Given the description of an element on the screen output the (x, y) to click on. 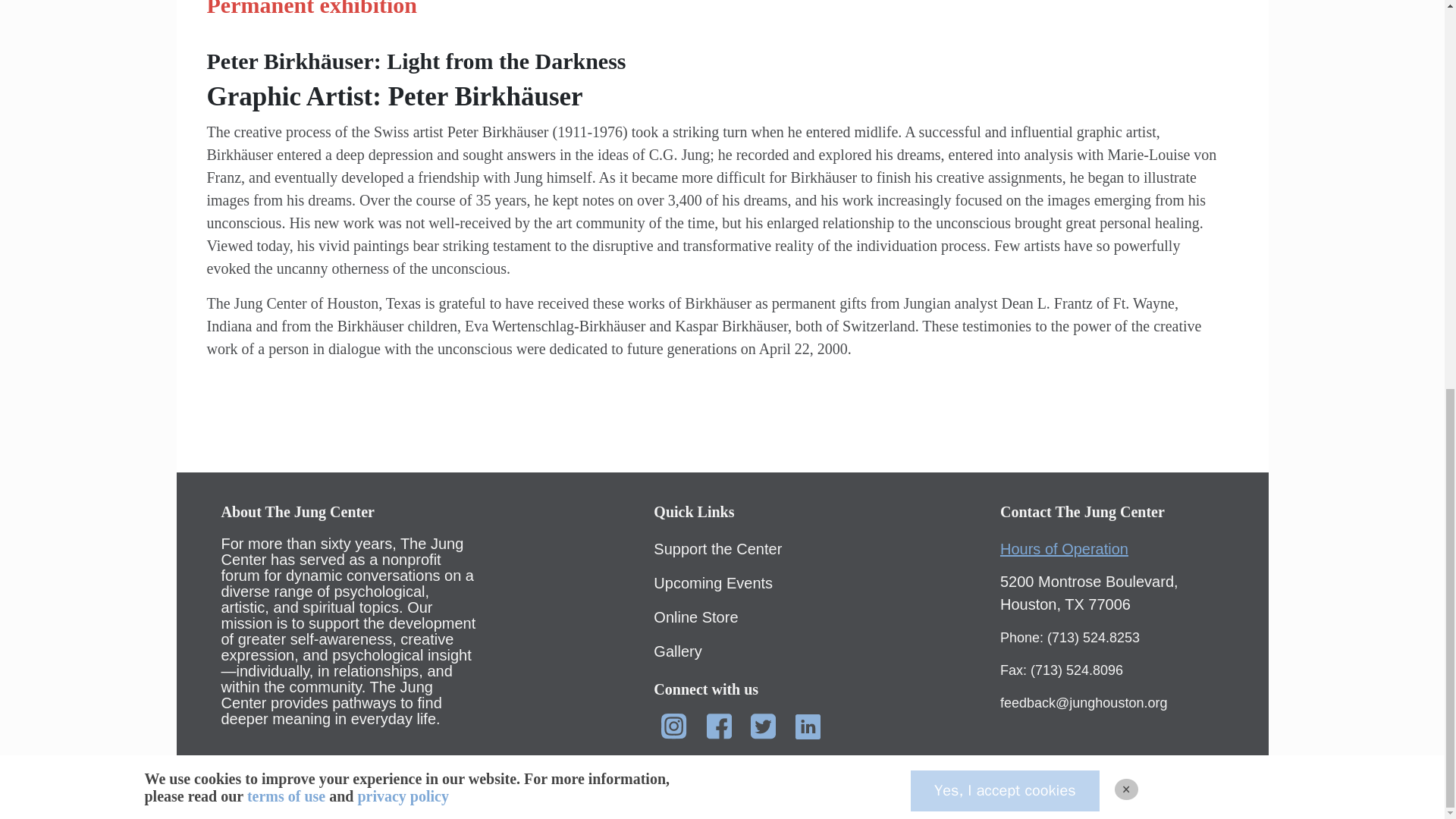
Facebook (719, 726)
Email The Jung Center - Houston (1083, 702)
Fax The Jung Center - Houston (1061, 670)
Twitter (763, 726)
Online Store (695, 617)
Call The Jung Center - Houston (1070, 637)
Instagram (674, 726)
Visit The Jung Center (1088, 592)
Support the Center (717, 548)
Upcoming Events (713, 582)
